Given the description of an element on the screen output the (x, y) to click on. 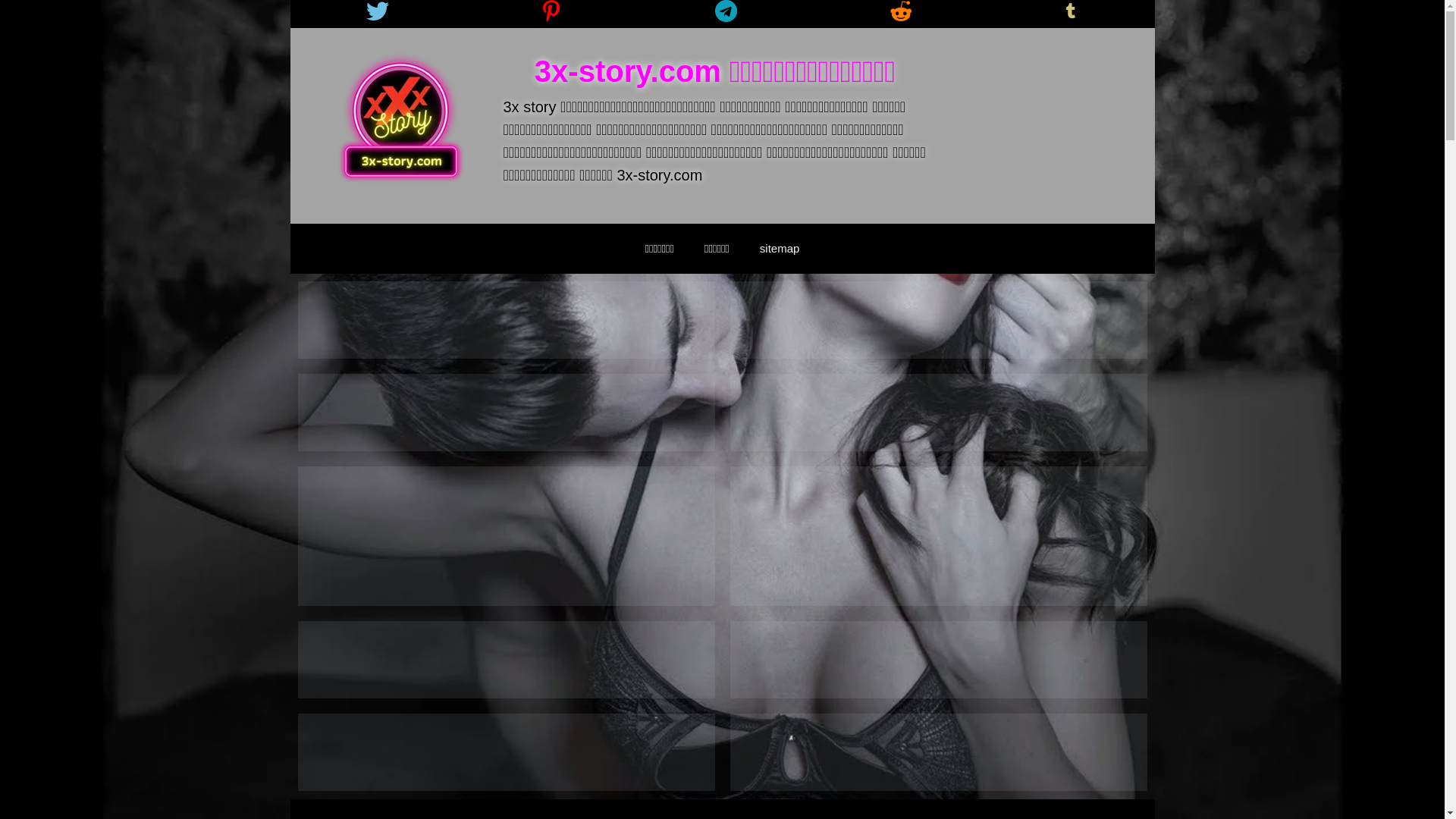
sitemap Element type: text (779, 248)
